Given the description of an element on the screen output the (x, y) to click on. 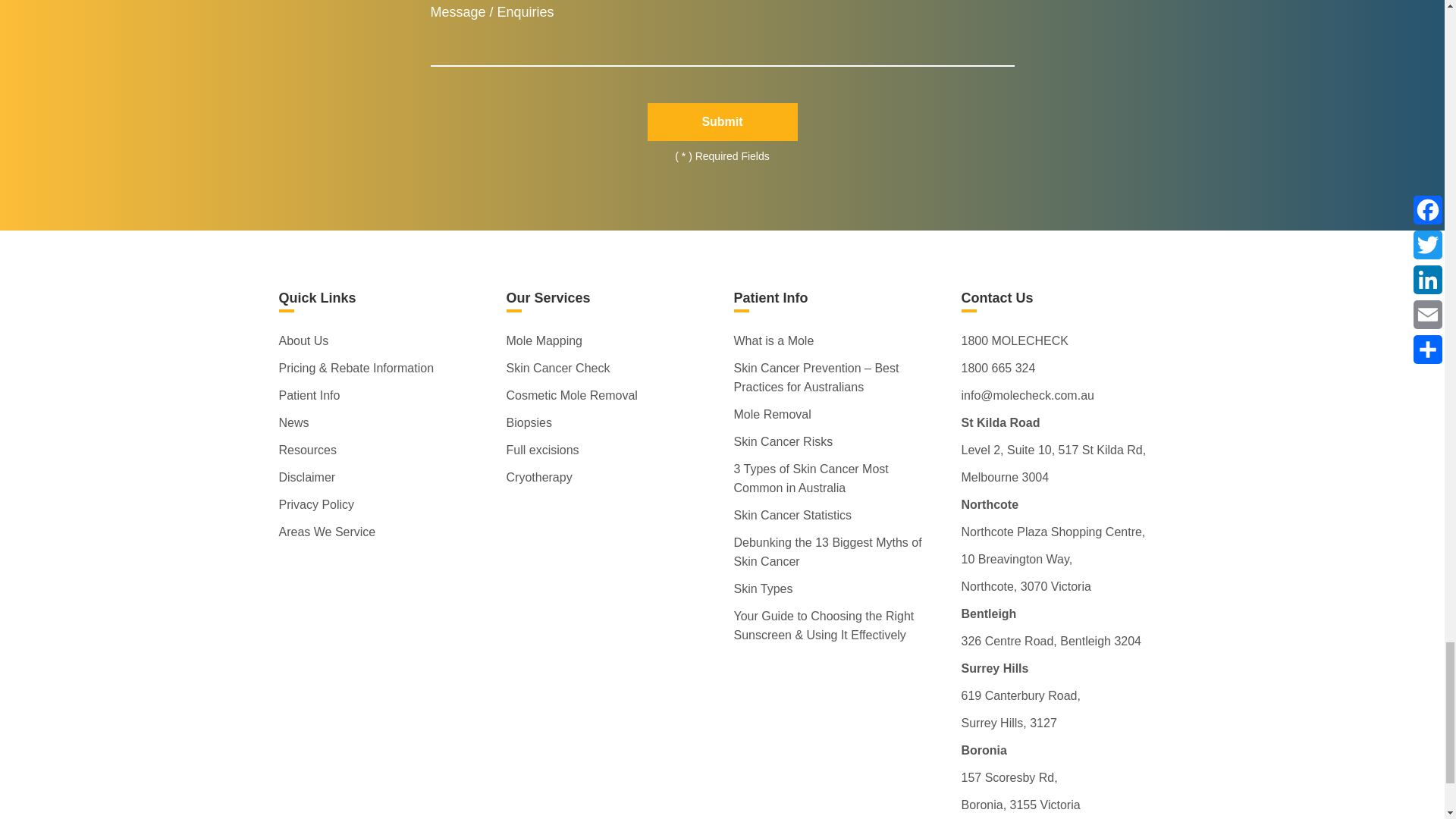
Submit (722, 121)
